Given the description of an element on the screen output the (x, y) to click on. 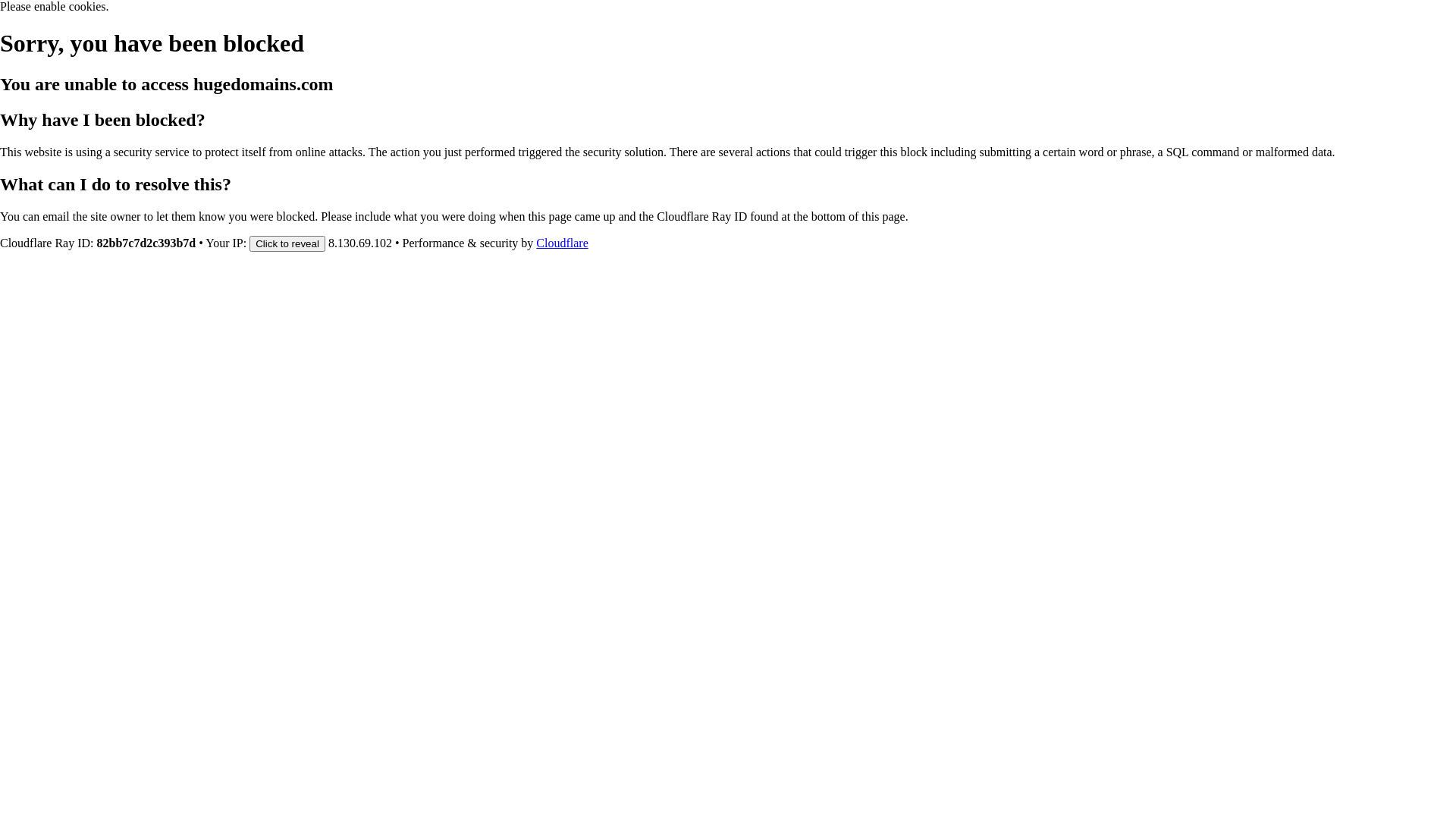
Cloudflare Element type: text (561, 242)
Click to reveal Element type: text (287, 243)
